Given the description of an element on the screen output the (x, y) to click on. 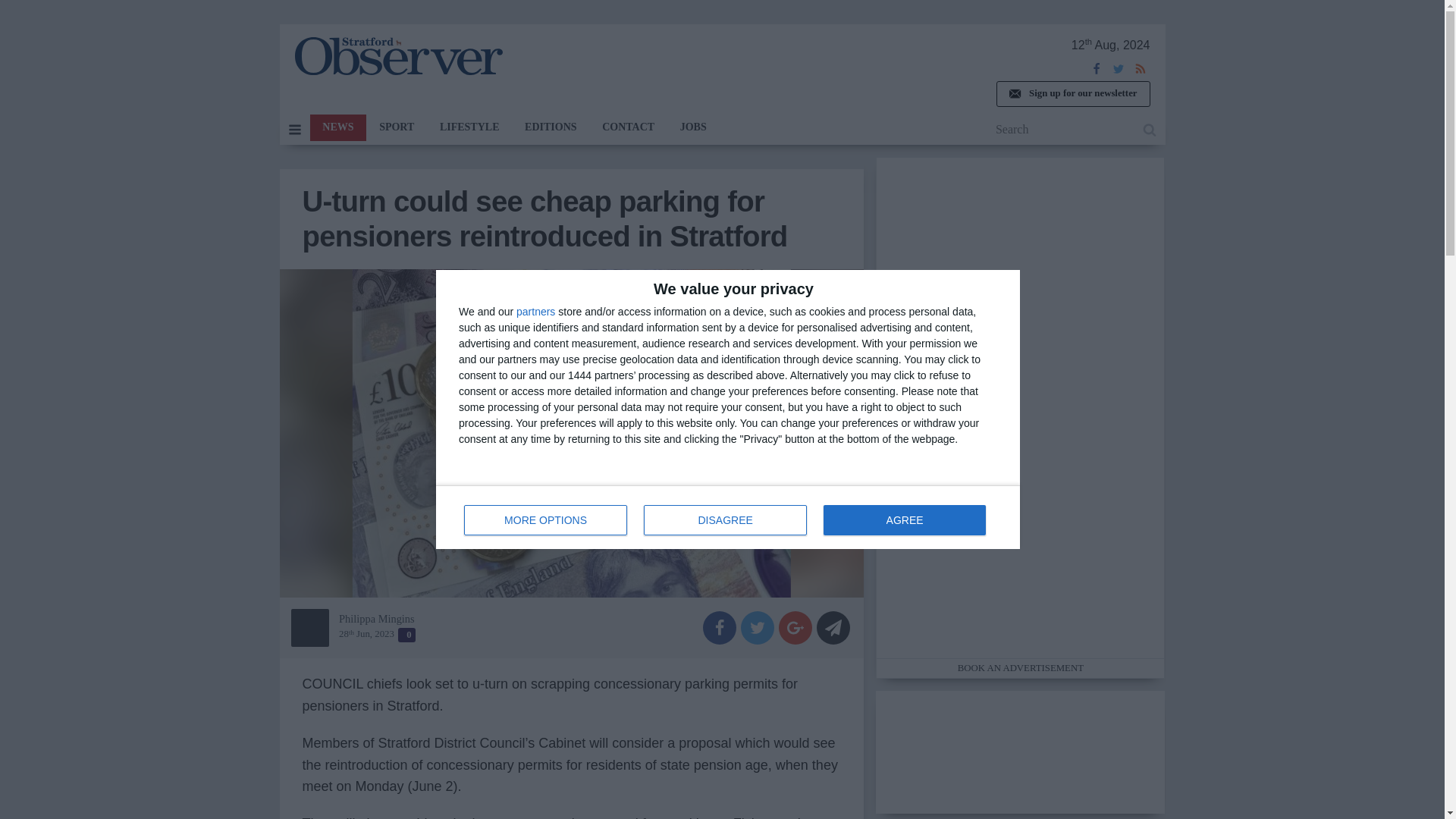
SPORT (396, 127)
  Sign up for our newsletter (1072, 94)
LIFESTYLE (469, 127)
NEWS (727, 516)
MORE OPTIONS (337, 127)
DISAGREE (545, 520)
The Stratford Observer (724, 520)
partners (398, 55)
EDITIONS (535, 311)
